Given the description of an element on the screen output the (x, y) to click on. 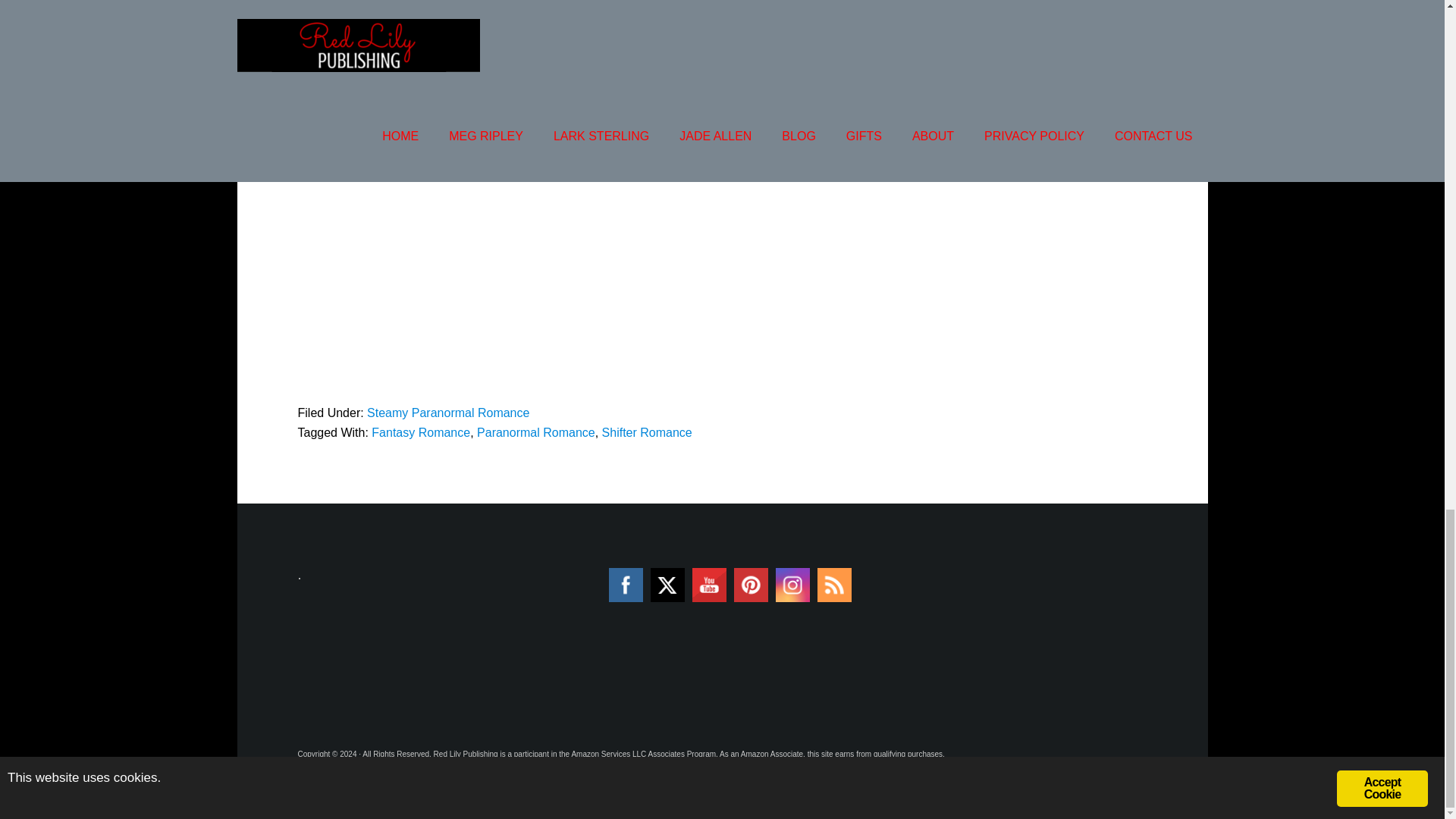
YOUTUBE (709, 584)
Facebook (624, 584)
RSS (834, 584)
Twitter (667, 584)
INSTAGRAM (792, 584)
Steamy Paranormal Romance (447, 412)
Pinterest (750, 584)
